Given the description of an element on the screen output the (x, y) to click on. 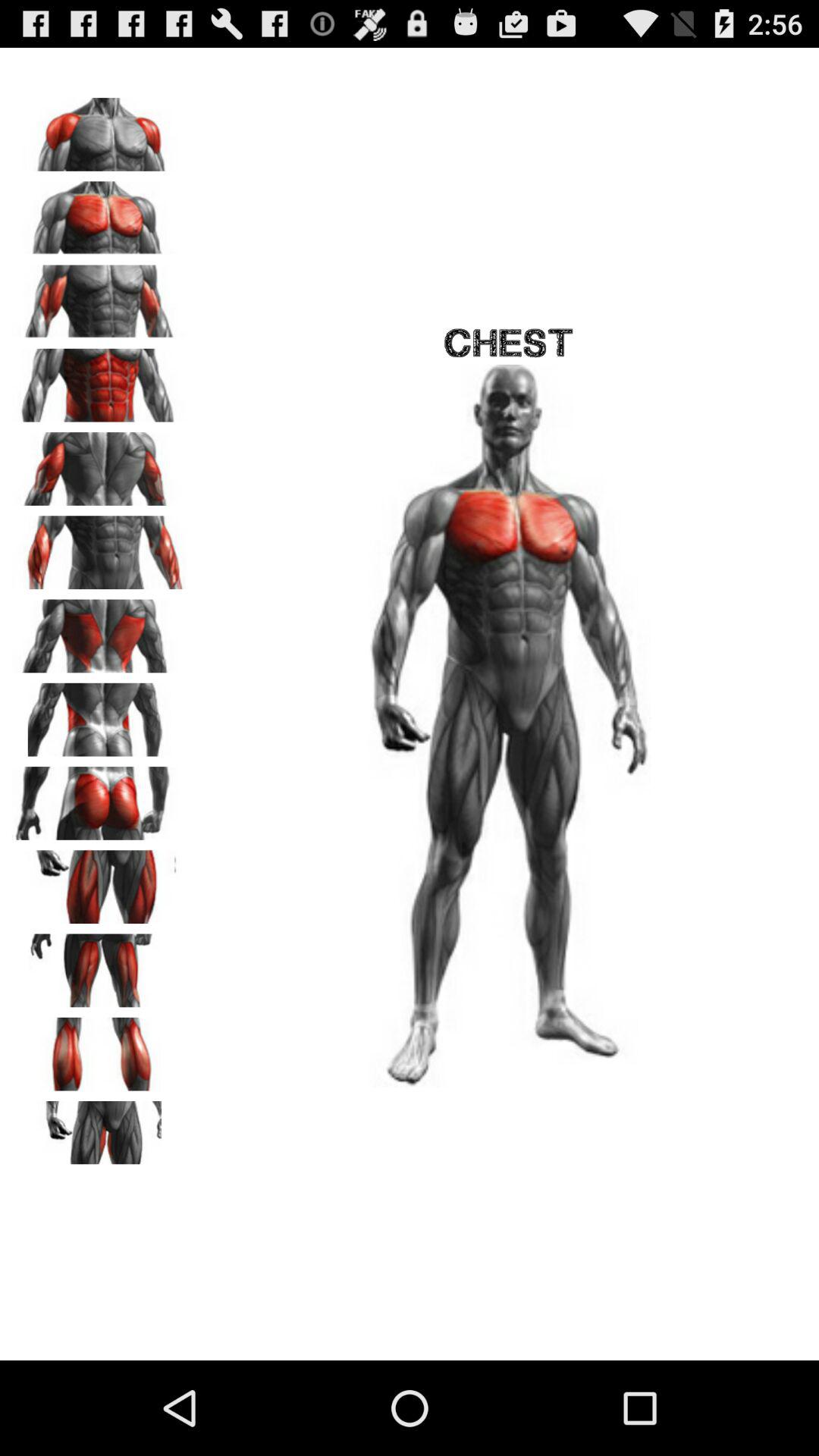
select the image below text chest (508, 726)
